Given the description of an element on the screen output the (x, y) to click on. 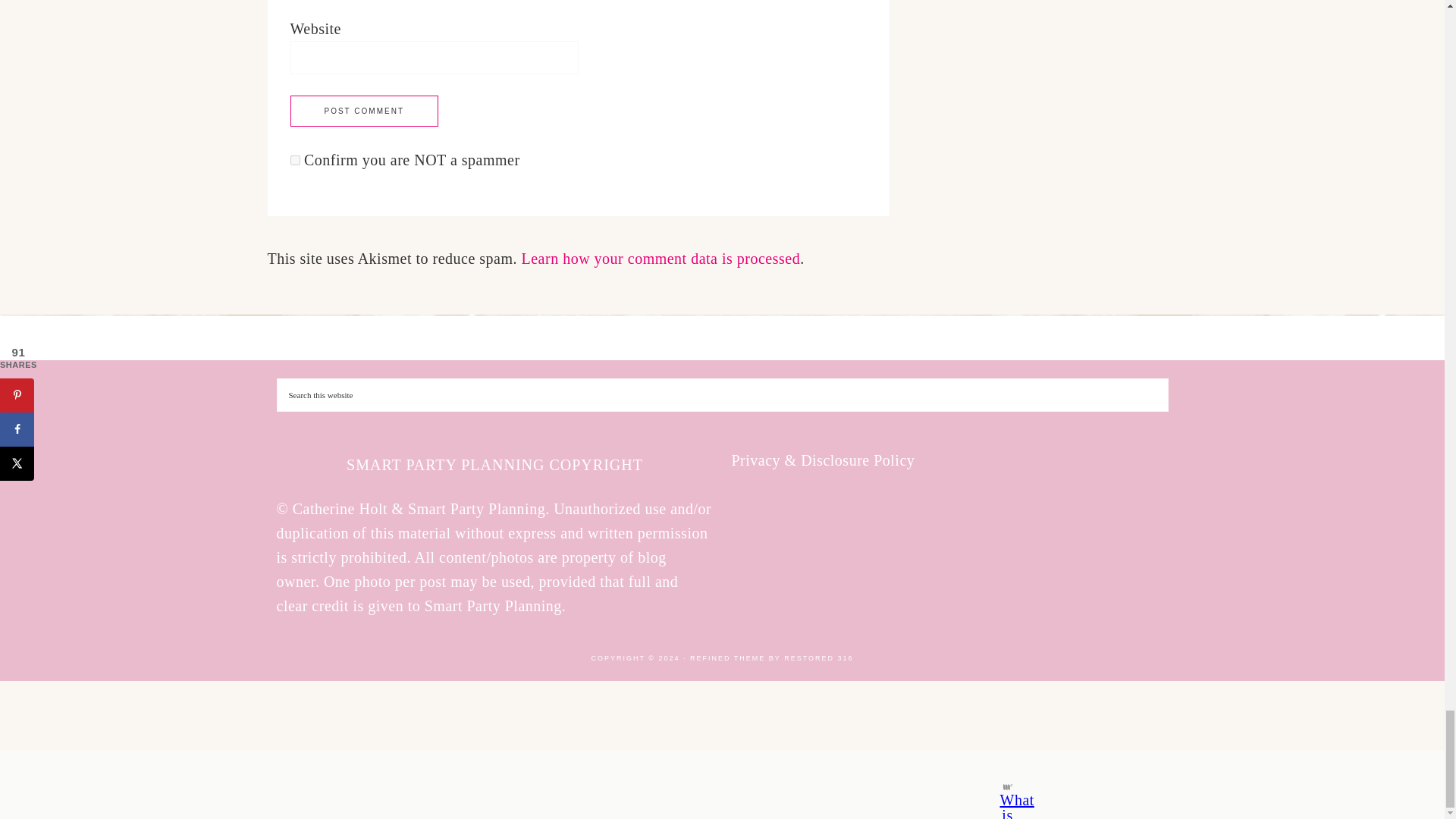
Post Comment (363, 110)
on (294, 160)
